Given the description of an element on the screen output the (x, y) to click on. 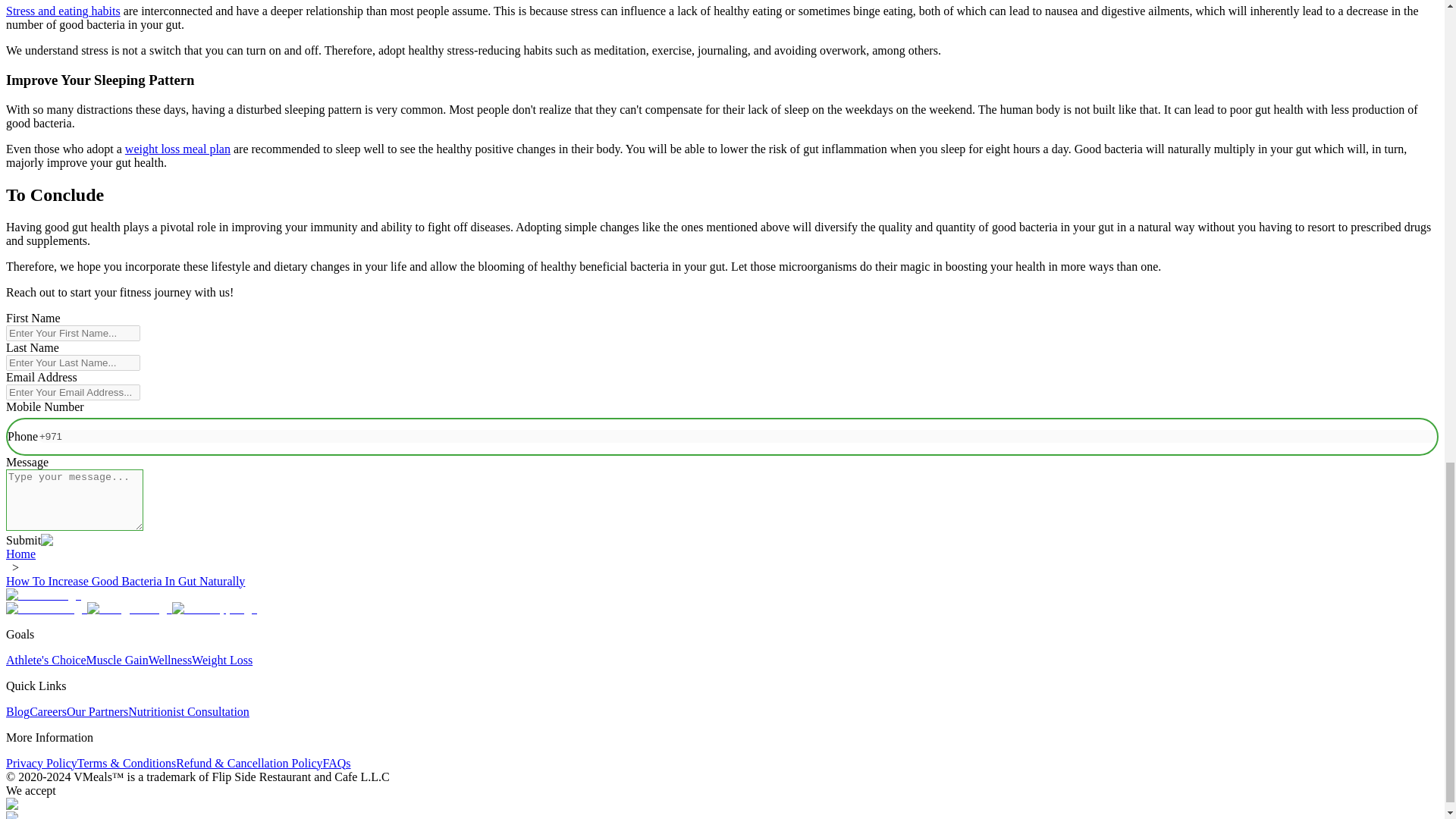
weight loss meal plan (177, 148)
Home (19, 553)
Athlete's Choice (45, 659)
Wellness (170, 659)
FAQs (336, 762)
Stress and eating habits (62, 10)
Blog (17, 711)
Weight Loss (221, 659)
How To Increase Good Bacteria In Gut Naturally (124, 581)
Careers (47, 711)
